Given the description of an element on the screen output the (x, y) to click on. 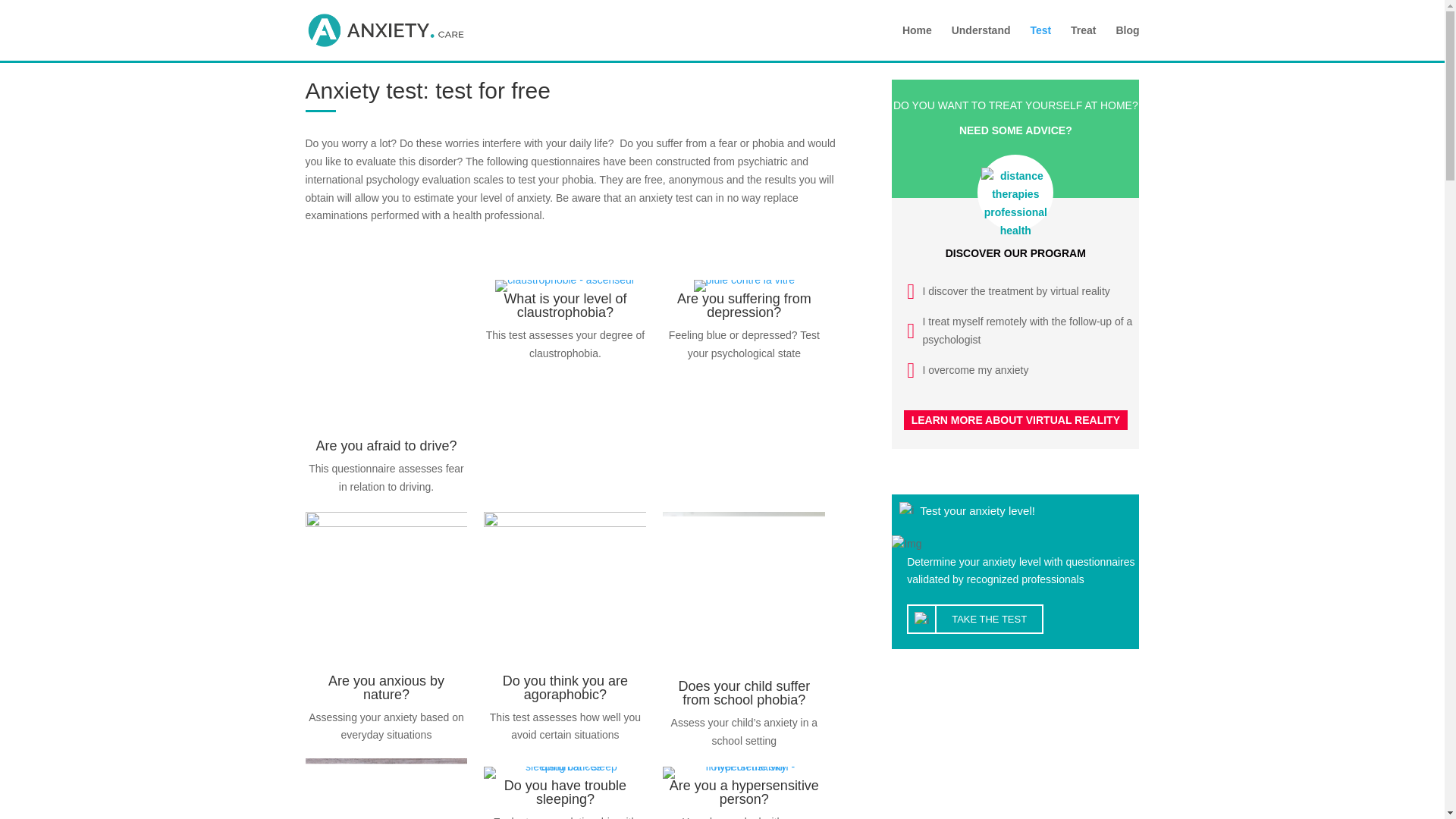
Do you think you are agoraphobic? (564, 687)
Does your child suffer from school phobia? (743, 692)
Are you a hypersensitive person? (743, 792)
Are you anxious by nature? (386, 687)
Do you have trouble sleeping? (564, 792)
Understand (981, 42)
Are you afraid to drive? (386, 445)
Are you suffering from depression? (743, 305)
What is your level of claustrophobia? (564, 305)
